Given the description of an element on the screen output the (x, y) to click on. 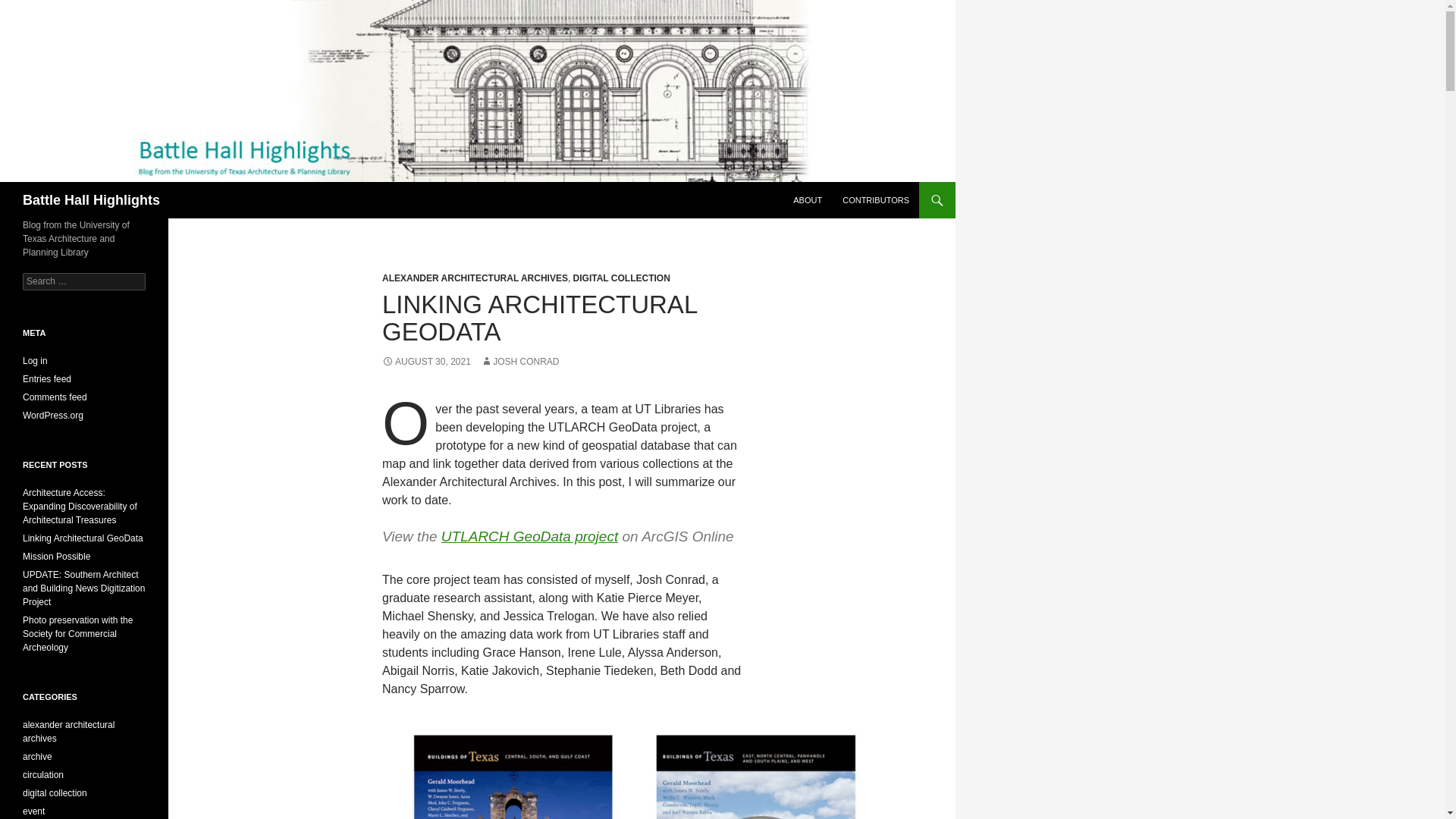
AUGUST 30, 2021 (425, 361)
Battle Hall Highlights (91, 199)
Entries feed (47, 378)
CONTRIBUTORS (875, 199)
ABOUT (807, 199)
Log in (35, 360)
ALEXANDER ARCHITECTURAL ARCHIVES (474, 277)
Search (30, 8)
JOSH CONRAD (519, 361)
